Given the description of an element on the screen output the (x, y) to click on. 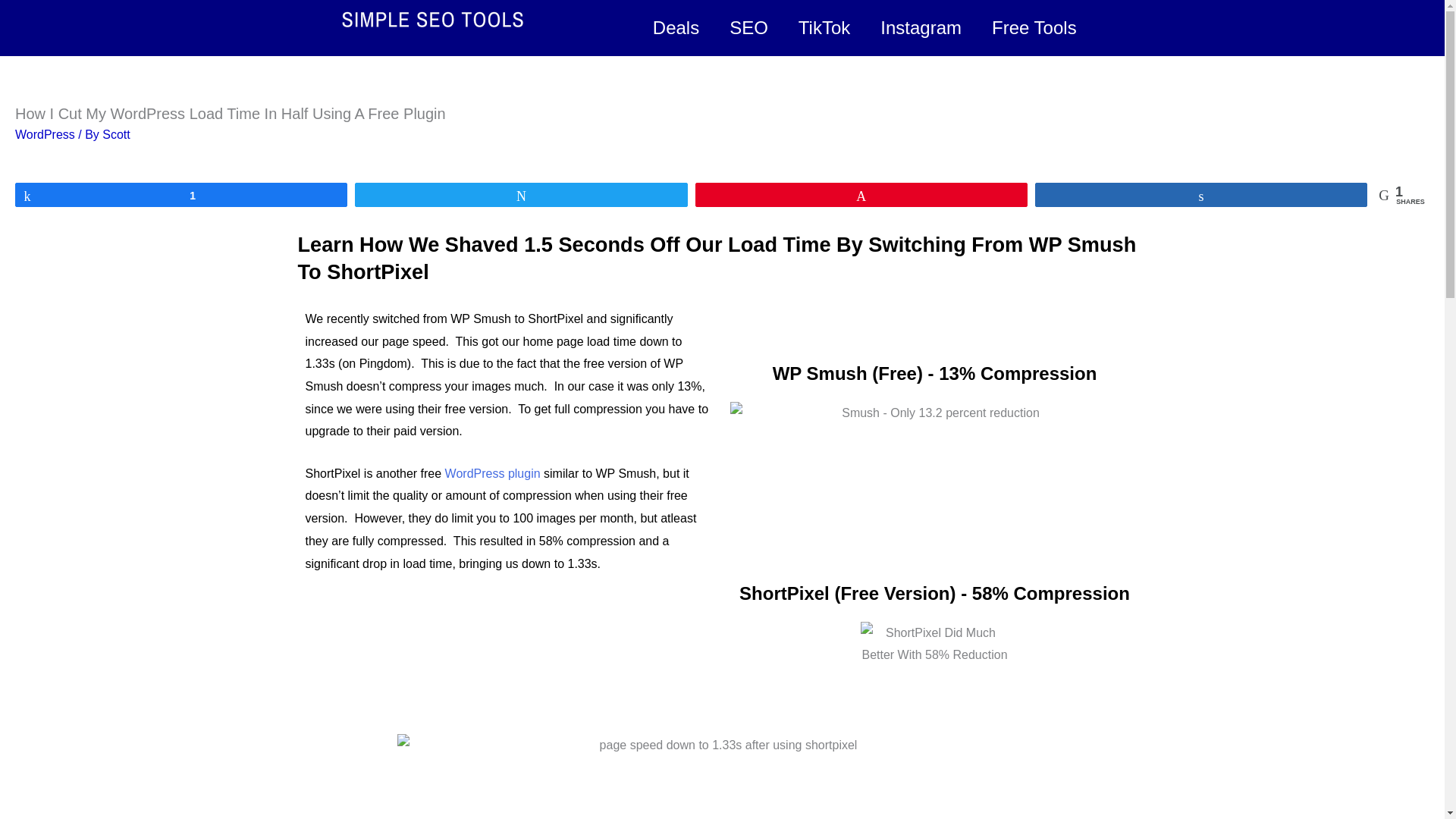
Scott (115, 133)
1 (181, 194)
View all posts by Scott (115, 133)
Instagram (920, 27)
WordPress (44, 133)
Free Tools (1034, 27)
WordPress plugin (492, 472)
SEO (748, 27)
Deals (675, 27)
TikTok (823, 27)
